Given the description of an element on the screen output the (x, y) to click on. 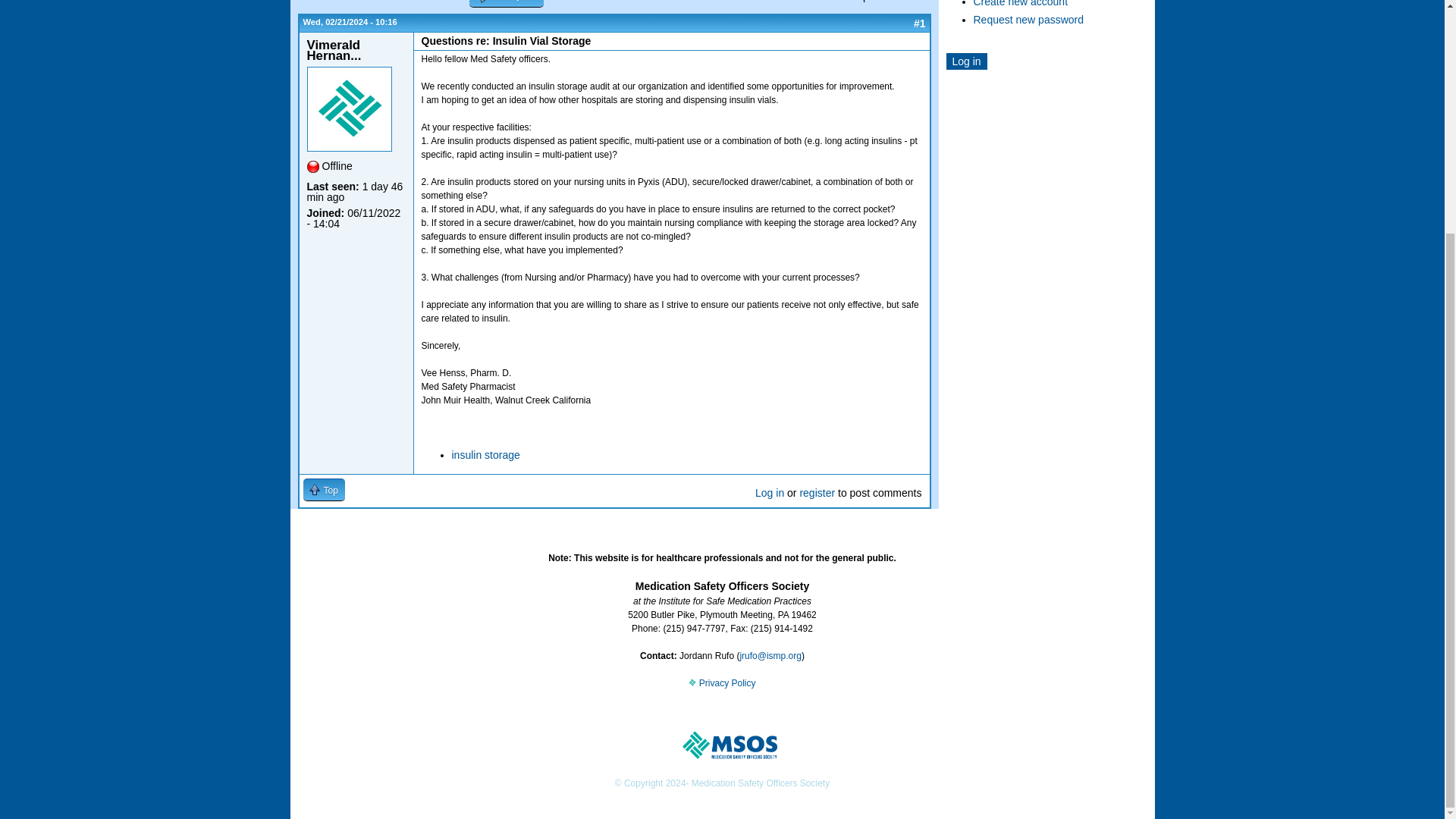
Last post (505, 3)
Create new account (1021, 3)
Vimerald Hernando Henss's picture (348, 108)
Request new password via e-mail. (1029, 19)
Request new password (1029, 19)
insulin storage (485, 454)
Create a new user account. (1021, 3)
Log in (966, 61)
Top (323, 489)
Log in (769, 492)
register (816, 492)
Jump to top of page (323, 489)
Log in (966, 61)
 Privacy Policy (721, 683)
